Given the description of an element on the screen output the (x, y) to click on. 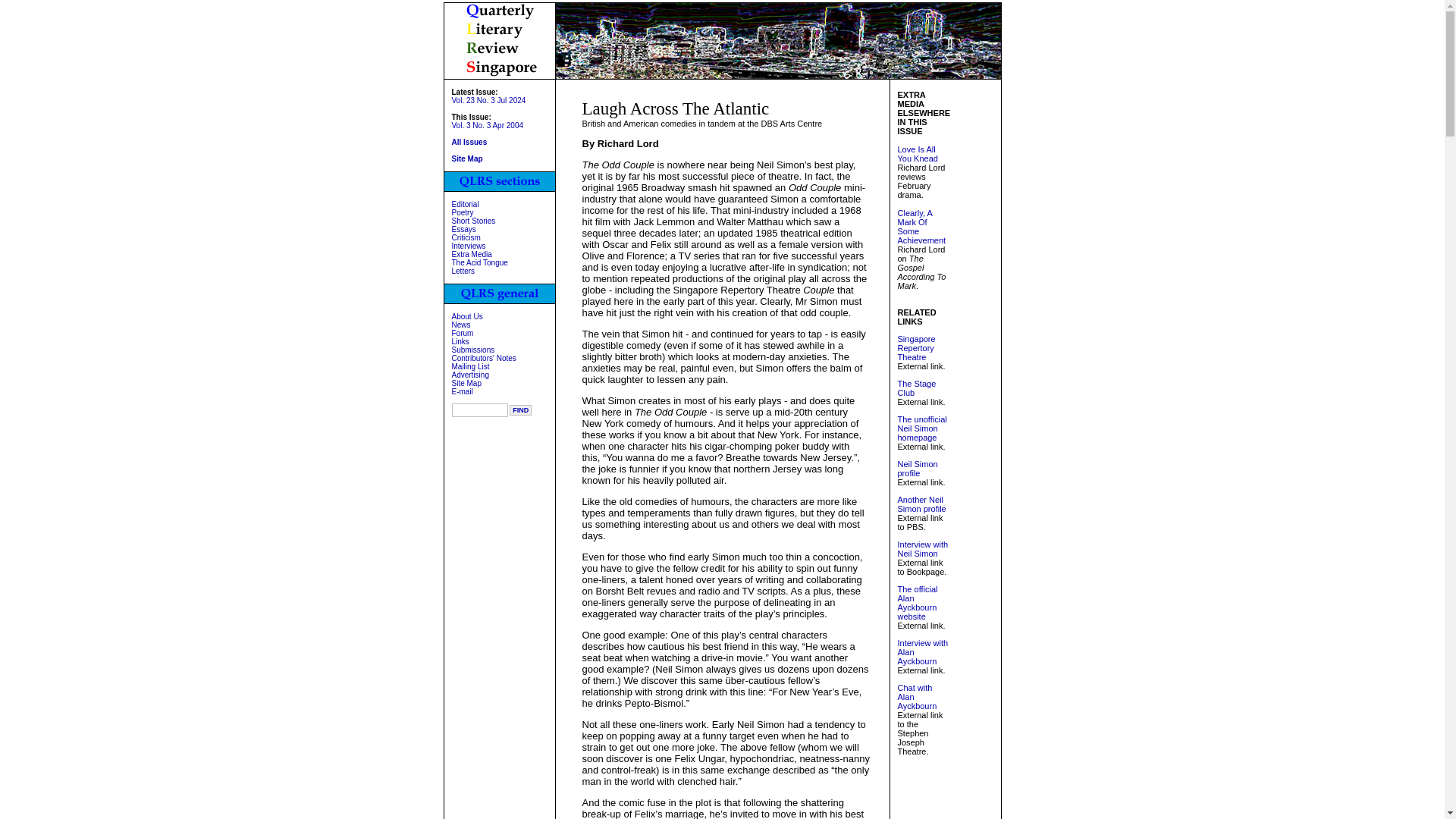
Poetry (462, 212)
Vol. 23 No. 3 Jul 2024 (488, 100)
Another Neil Simon profile (922, 504)
Site Map (467, 158)
Mailing List (470, 366)
FIND (520, 409)
Advertising (470, 375)
FIND (520, 409)
Singapore Repertory Theatre (917, 347)
Links (459, 341)
News (460, 325)
Editorial (465, 203)
Interview with Neil Simon (923, 548)
Site Map (466, 383)
Extra Media (471, 254)
